Given the description of an element on the screen output the (x, y) to click on. 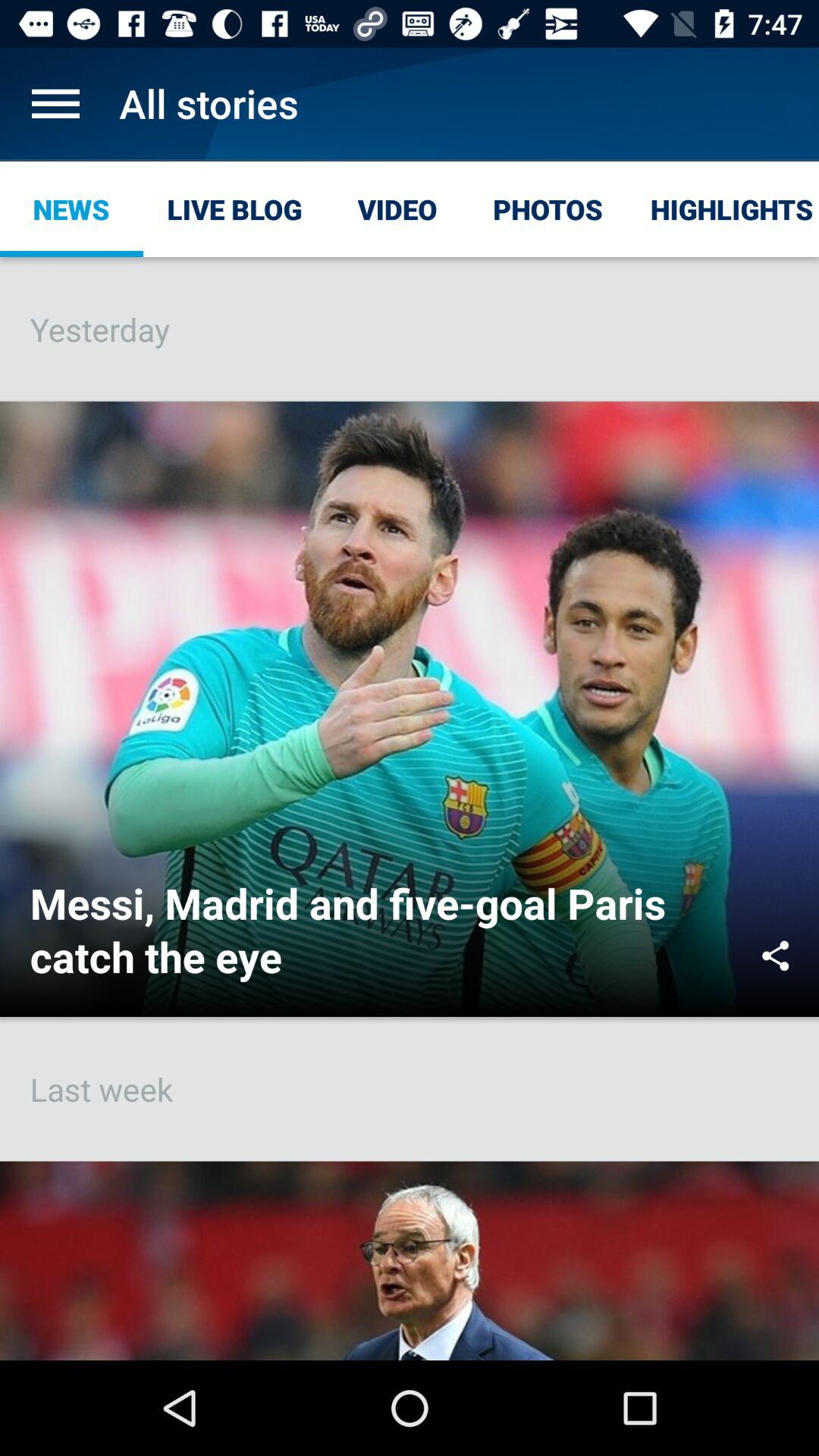
open icon to the left of the all stories (55, 103)
